Given the description of an element on the screen output the (x, y) to click on. 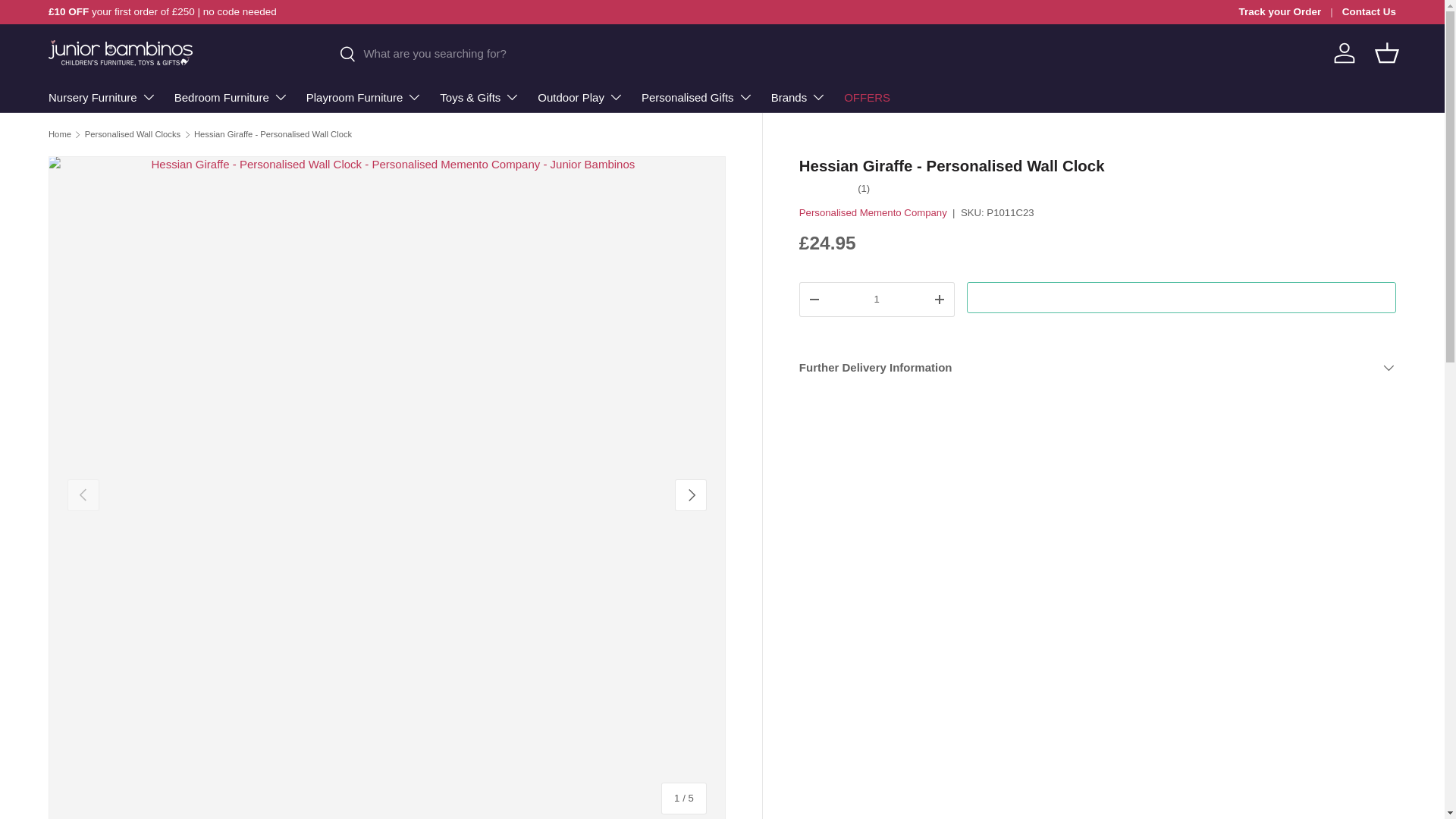
here! (1349, 11)
1 (876, 299)
Track your Order (1289, 11)
Basket (1386, 52)
Log in (1344, 52)
SKIP TO CONTENT (68, 21)
Search (338, 54)
Contact Us (1369, 11)
Nursery Furniture (101, 96)
